Given the description of an element on the screen output the (x, y) to click on. 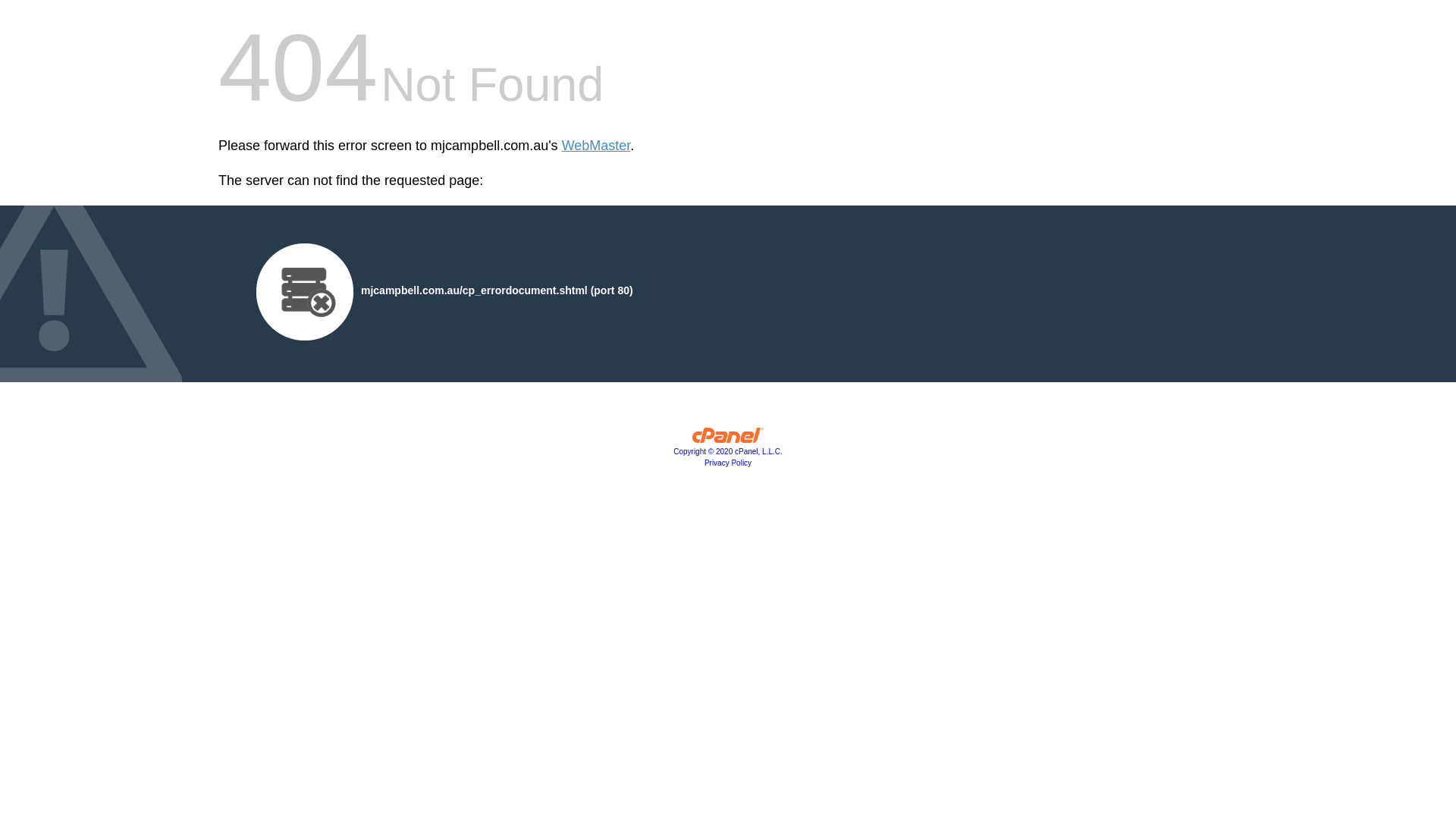
Privacy Policy Element type: text (727, 462)
cPanel, Inc. Element type: hover (728, 439)
WebMaster Element type: text (595, 145)
